Given the description of an element on the screen output the (x, y) to click on. 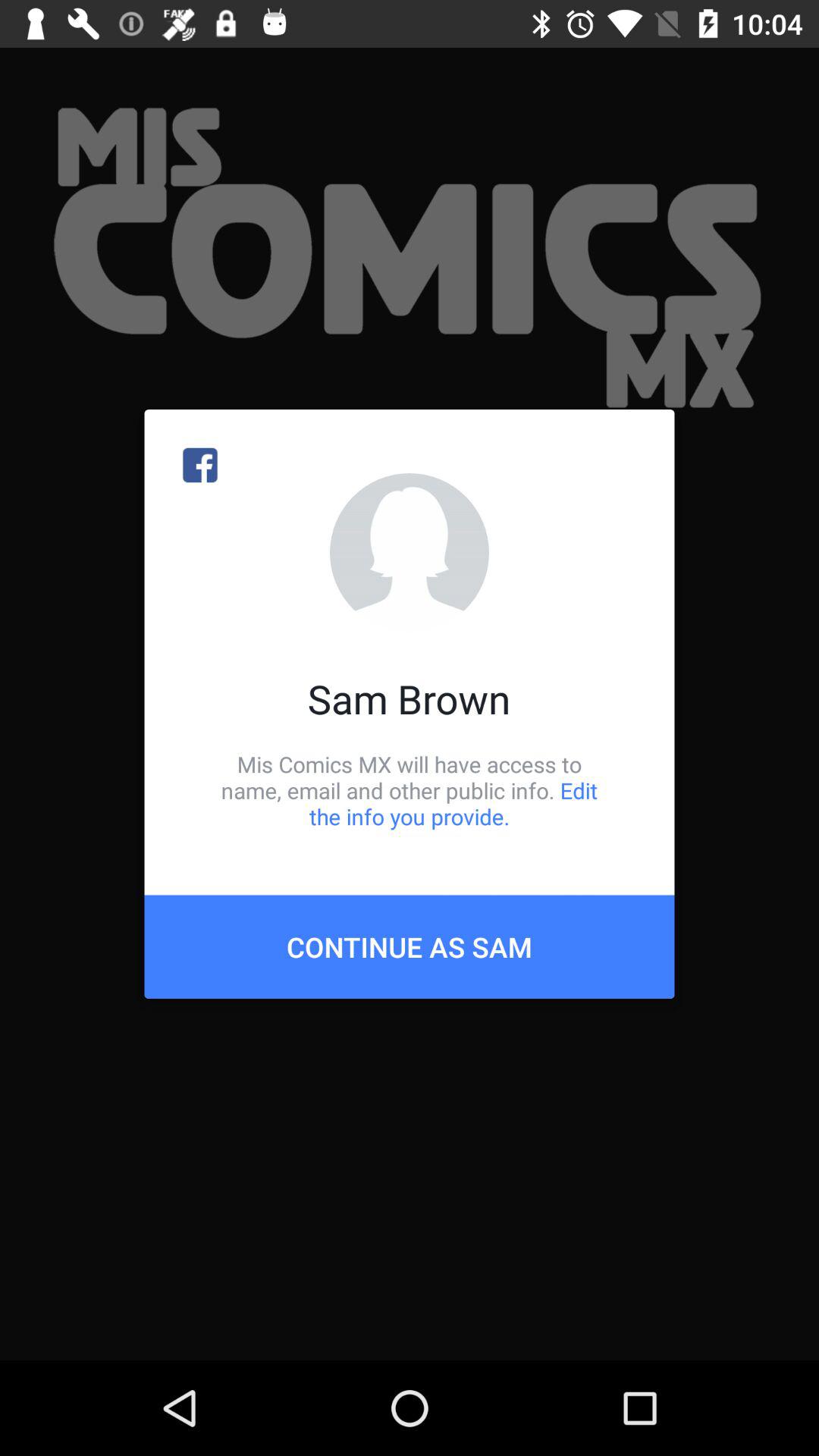
tap item below sam brown item (409, 790)
